Given the description of an element on the screen output the (x, y) to click on. 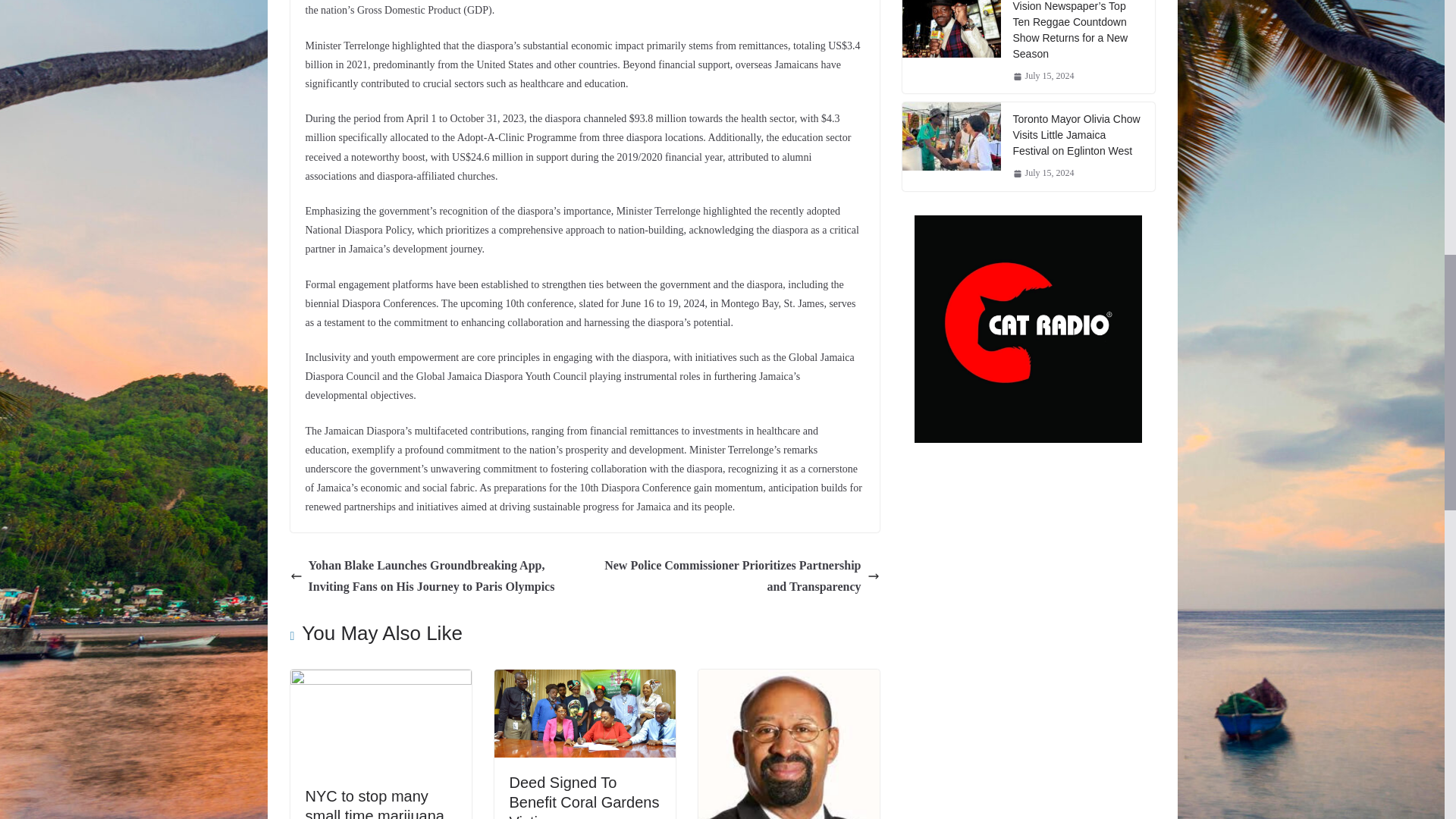
PHILADELPHIA DECRIMINALIZES MARIJUANA (788, 679)
Deed Signed To Benefit Coral Gardens Victims (585, 679)
Deed Signed To Benefit Coral Gardens Victims (584, 796)
Deed Signed To Benefit Coral Gardens Victims (584, 796)
